Given the description of an element on the screen output the (x, y) to click on. 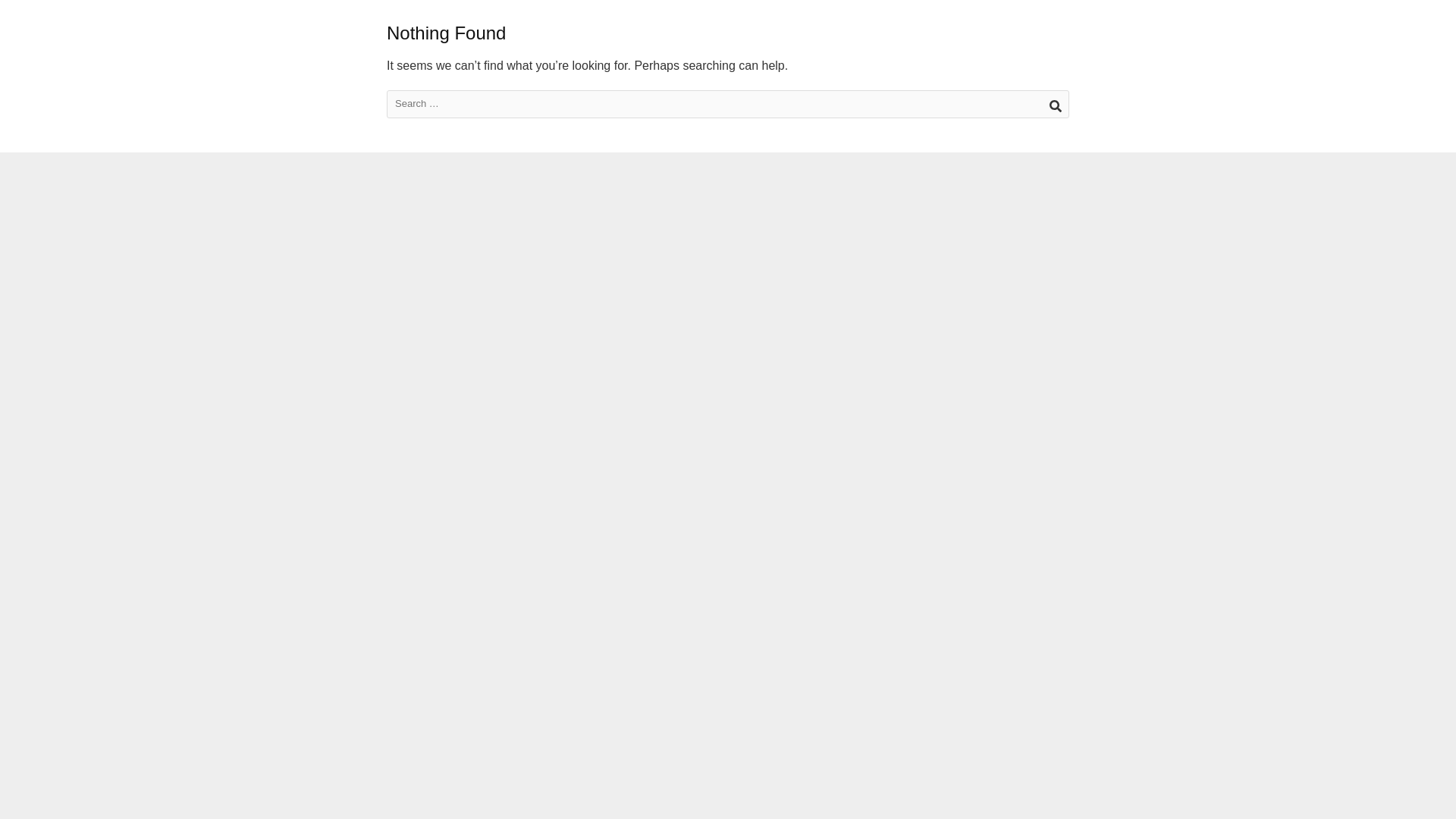
Search (1053, 103)
Search (1053, 103)
Search (1053, 103)
